Given the description of an element on the screen output the (x, y) to click on. 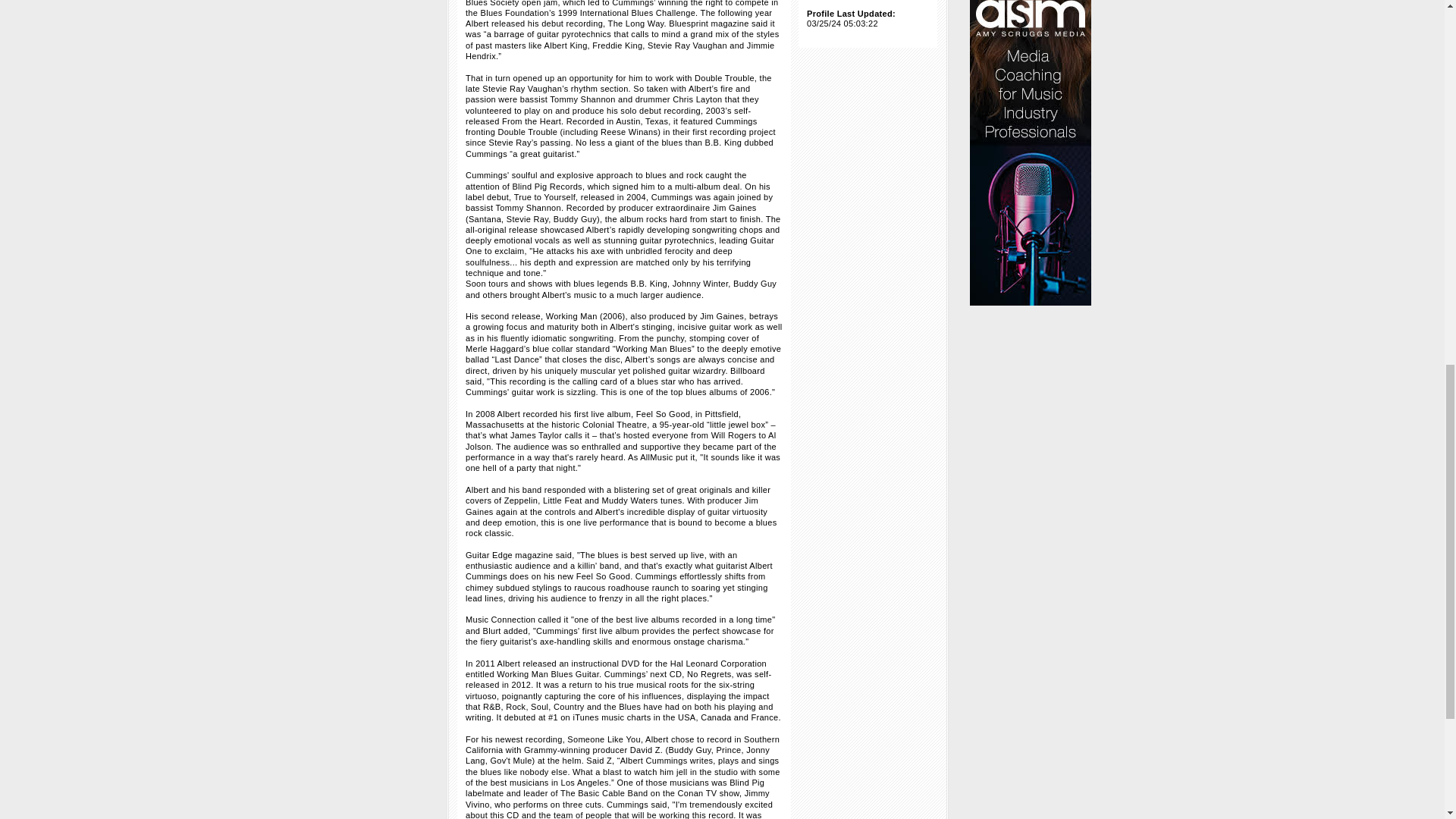
Info (800, 47)
Download (866, 96)
Download (866, 14)
Info (800, 6)
Download (866, 55)
Info (800, 88)
